Given the description of an element on the screen output the (x, y) to click on. 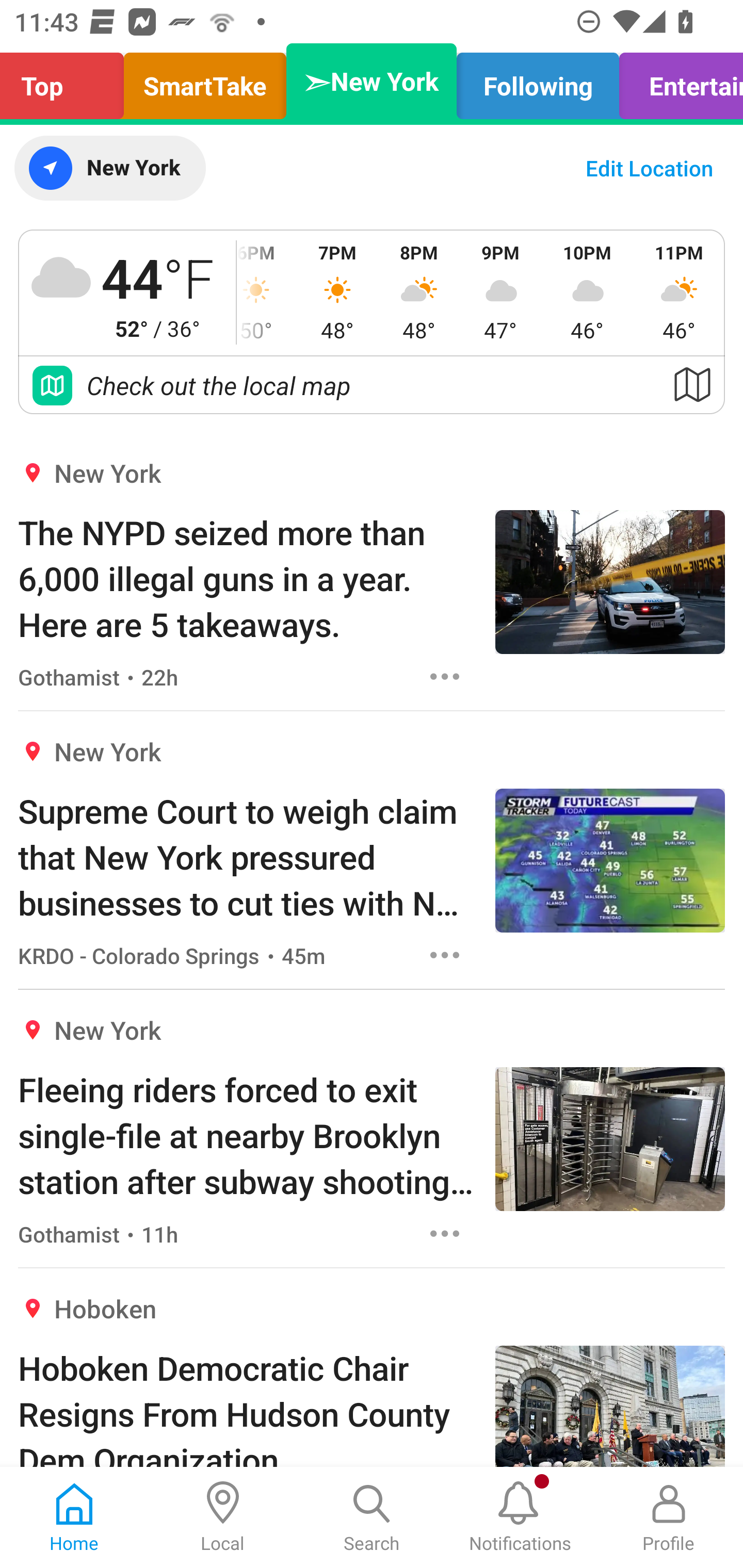
Top (67, 81)
SmartTake (204, 81)
➣New York (371, 81)
Following (537, 81)
New York (109, 168)
Edit Location (648, 168)
7PM 48° (337, 291)
8PM 48° (418, 291)
9PM 47° (499, 291)
10PM 46° (586, 291)
11PM 46° (679, 291)
Check out the local map (371, 384)
Options (444, 676)
Options (444, 954)
Options (444, 1233)
Local (222, 1517)
Search (371, 1517)
Notifications, New notification Notifications (519, 1517)
Profile (668, 1517)
